Given the description of an element on the screen output the (x, y) to click on. 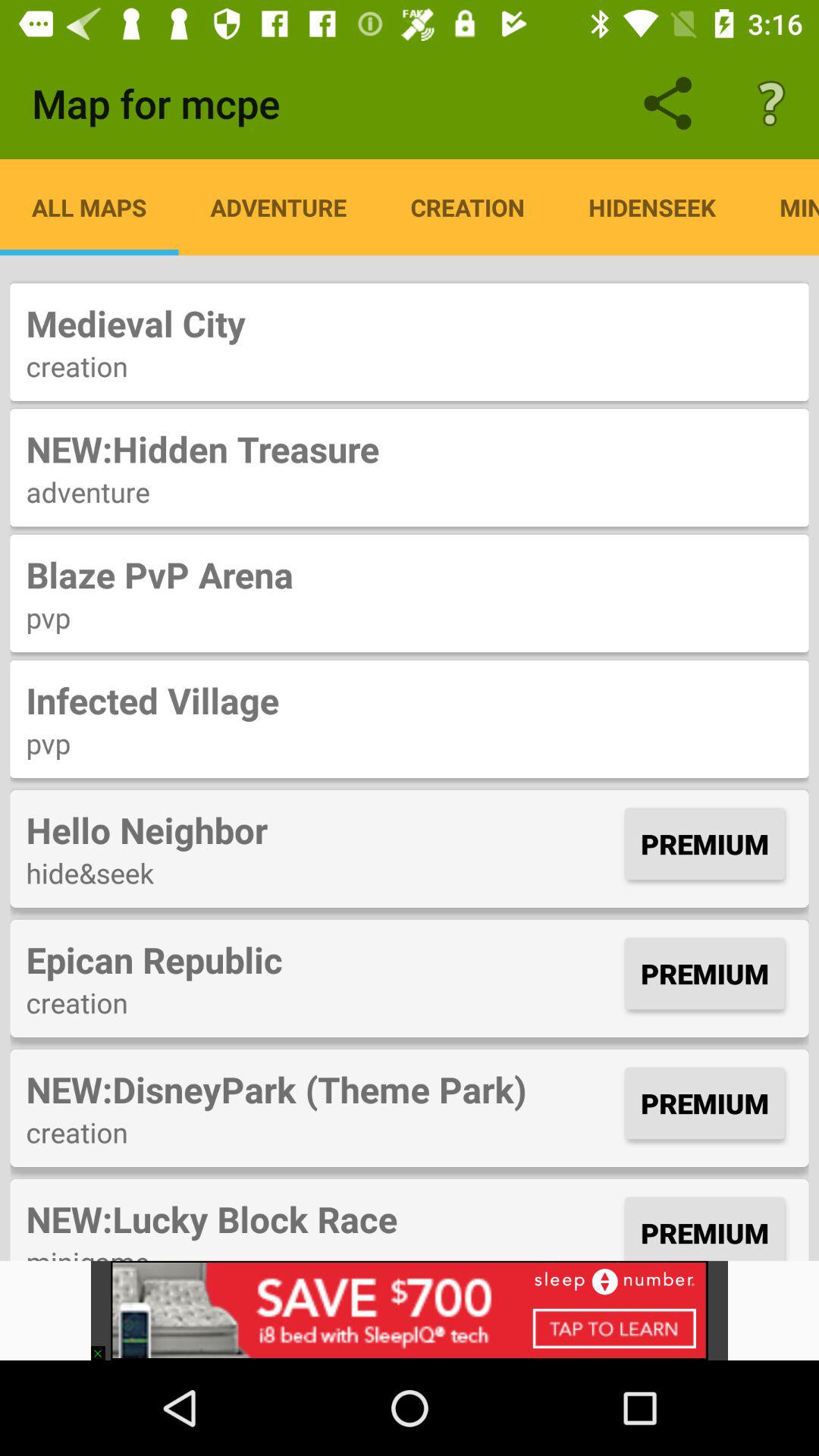
flip to the blaze pvp arena item (409, 574)
